Given the description of an element on the screen output the (x, y) to click on. 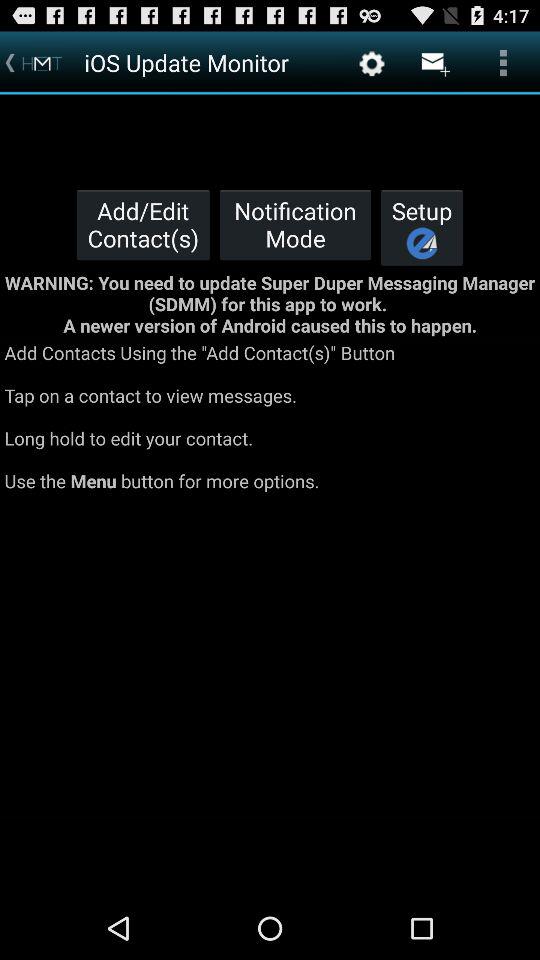
turn on the app above the warning you need (295, 224)
